Given the description of an element on the screen output the (x, y) to click on. 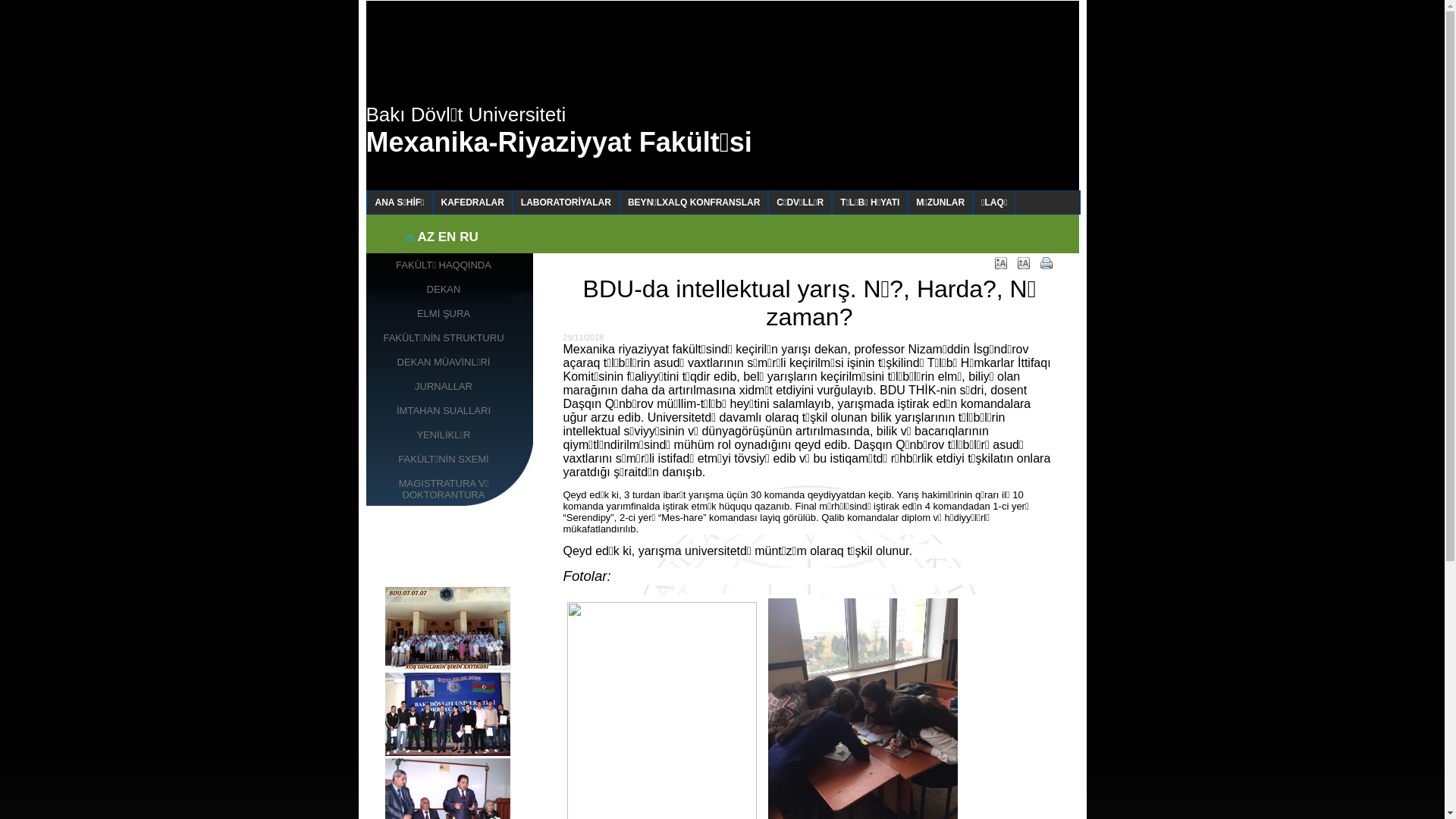
KAFEDRALAR Element type: text (472, 202)
RU Element type: text (468, 236)
DEKAN Element type: text (448, 289)
AZ Element type: text (425, 236)
EN Element type: text (447, 236)
JURNALLAR Element type: text (448, 386)
